Given the description of an element on the screen output the (x, y) to click on. 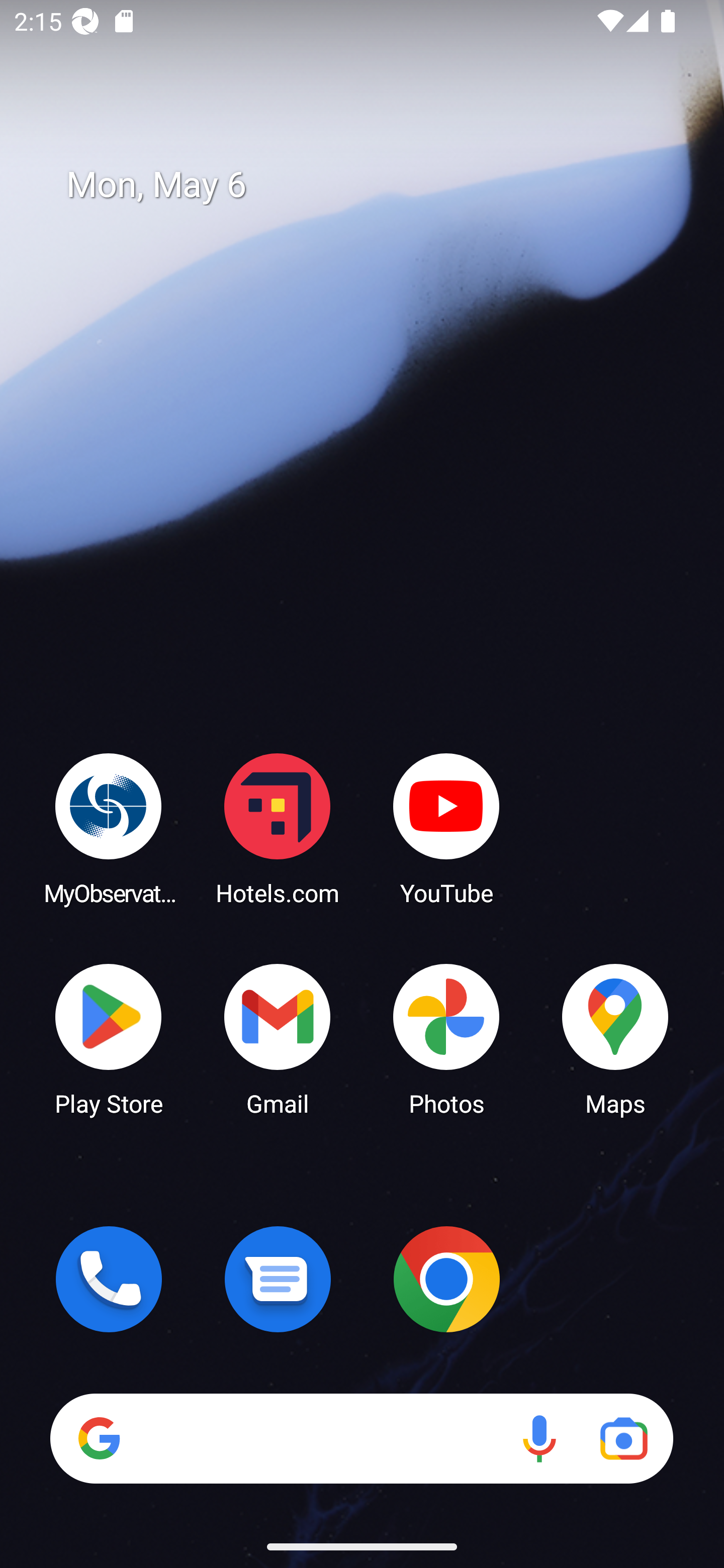
Mon, May 6 (375, 184)
MyObservatory (108, 828)
Hotels.com (277, 828)
YouTube (445, 828)
Play Store (108, 1038)
Gmail (277, 1038)
Photos (445, 1038)
Maps (615, 1038)
Phone (108, 1279)
Messages (277, 1279)
Chrome (446, 1279)
Search Voice search Google Lens (361, 1438)
Voice search (539, 1438)
Google Lens (623, 1438)
